Given the description of an element on the screen output the (x, y) to click on. 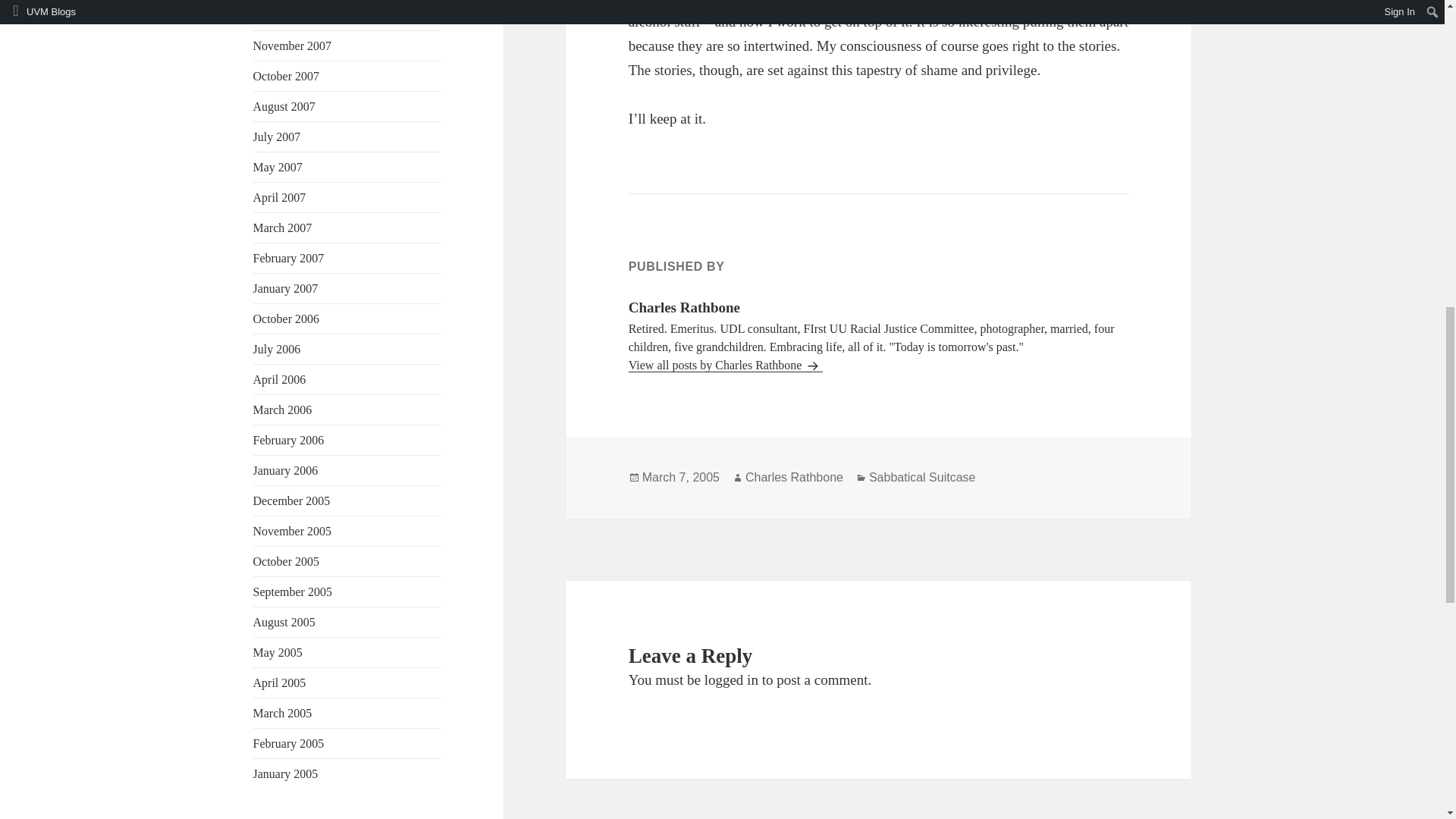
April 2007 (279, 196)
October 2006 (286, 318)
February 2007 (288, 257)
August 2007 (284, 106)
July 2006 (277, 349)
November 2007 (292, 45)
January 2007 (285, 287)
December 2007 (291, 15)
April 2006 (279, 379)
May 2007 (277, 166)
July 2007 (277, 136)
October 2007 (286, 75)
March 2007 (283, 227)
